Given the description of an element on the screen output the (x, y) to click on. 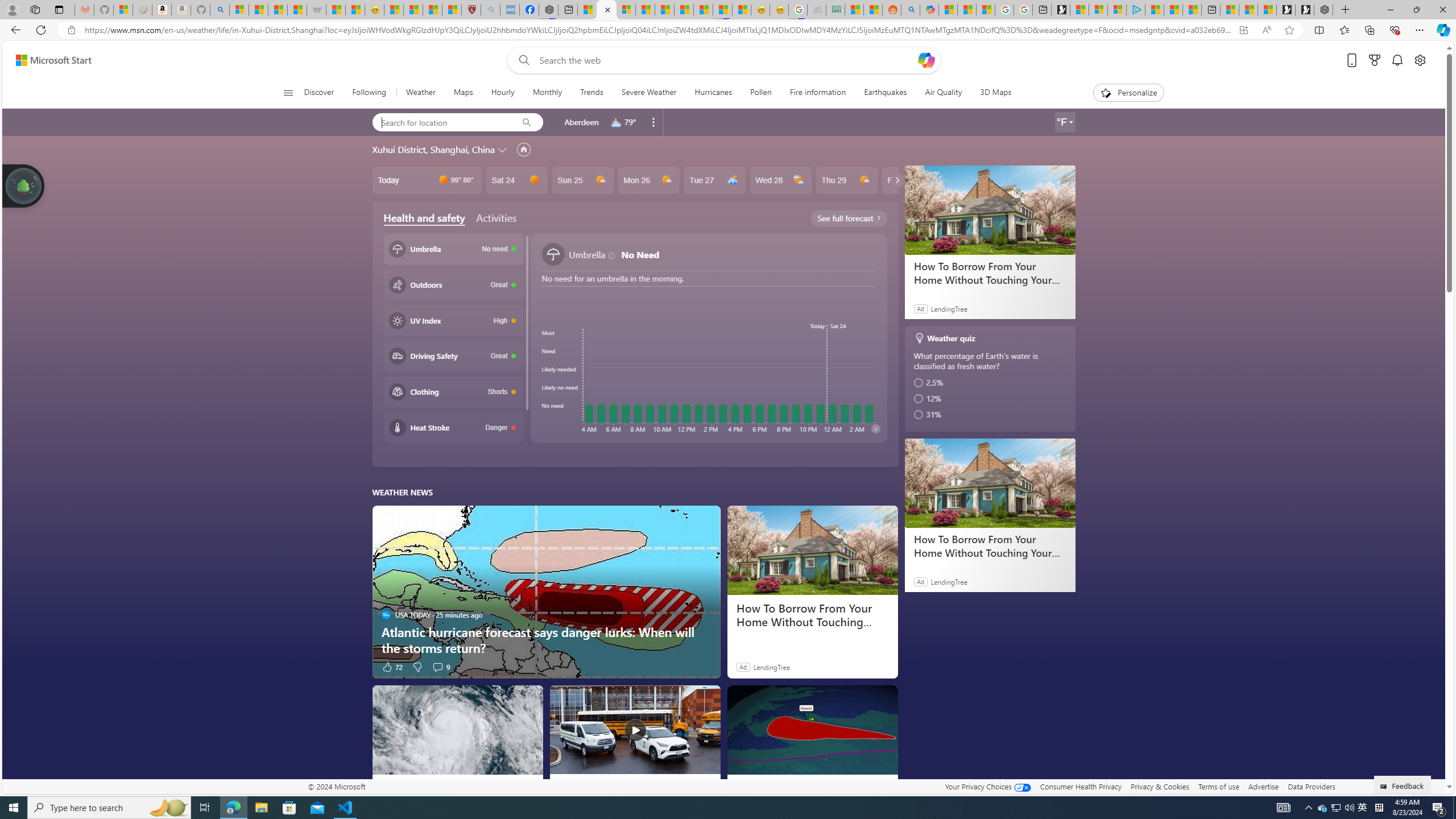
Microsoft Copilot in Bing (929, 9)
Utah sues federal government - Search (910, 9)
Join us in planting real trees to help our planet! (23, 185)
The Weather Channel (740, 785)
